Given the description of an element on the screen output the (x, y) to click on. 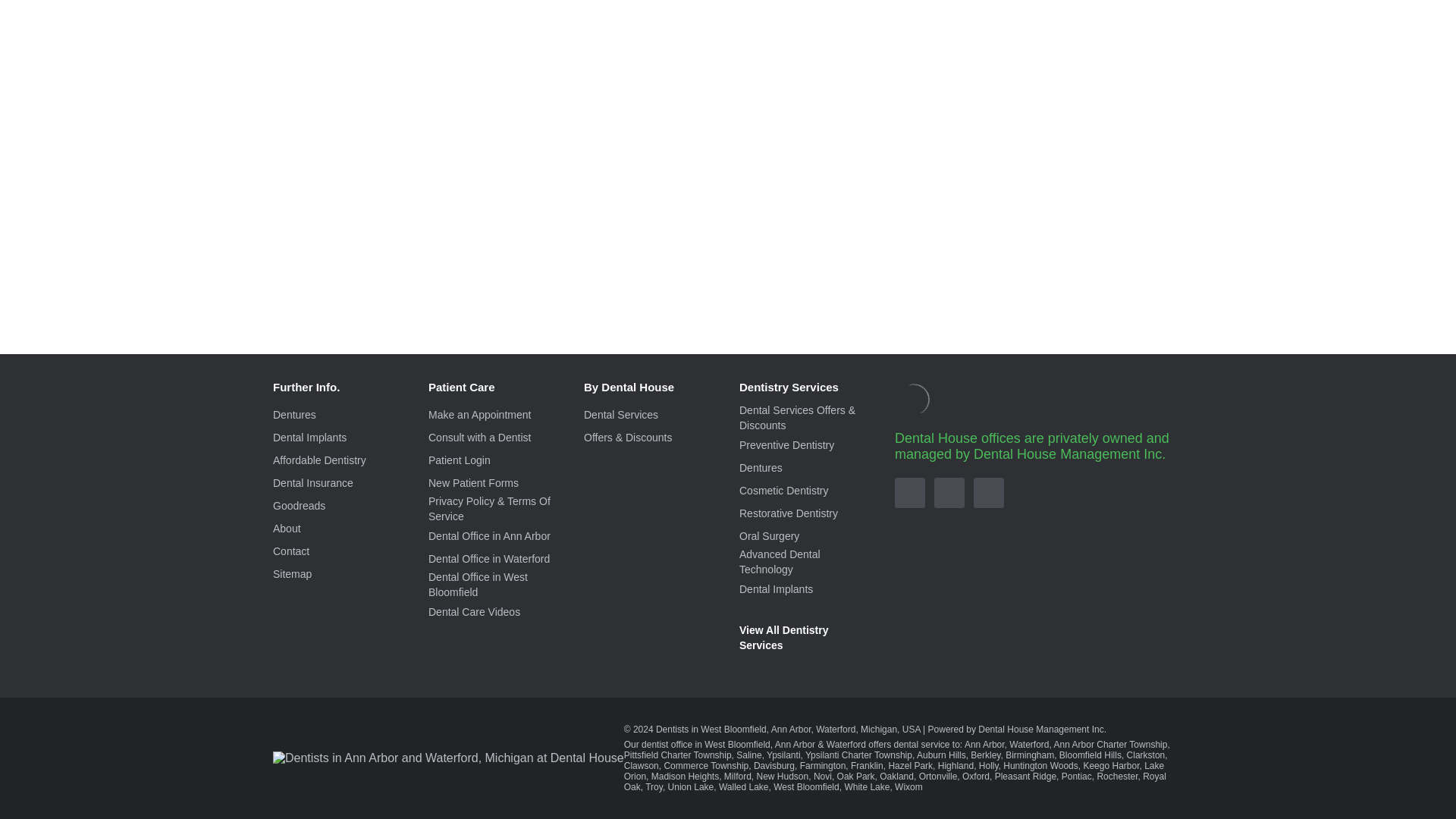
Dentist in Clarkston, MI (705, 765)
Dentist in Ypsilanti Charter Township, MI (782, 760)
Dentist in Bloomfield Hills, MI (649, 765)
Dentist in Auburn Hills, MI (500, 765)
Dentist in Waterford, MI (807, 755)
Dentist in Saline, MI (1074, 755)
Dentist in Ypsilanti, MI (1109, 755)
Dentist in Ann Arbor Charter Township, MI (887, 755)
Dentist in Birmingham, MI (588, 765)
Dentist in Ann Arbor, MI (761, 755)
Dentist in Berkley, MI (545, 765)
Dentist in Pittsfield Charter Township, MI (1003, 755)
